Given the description of an element on the screen output the (x, y) to click on. 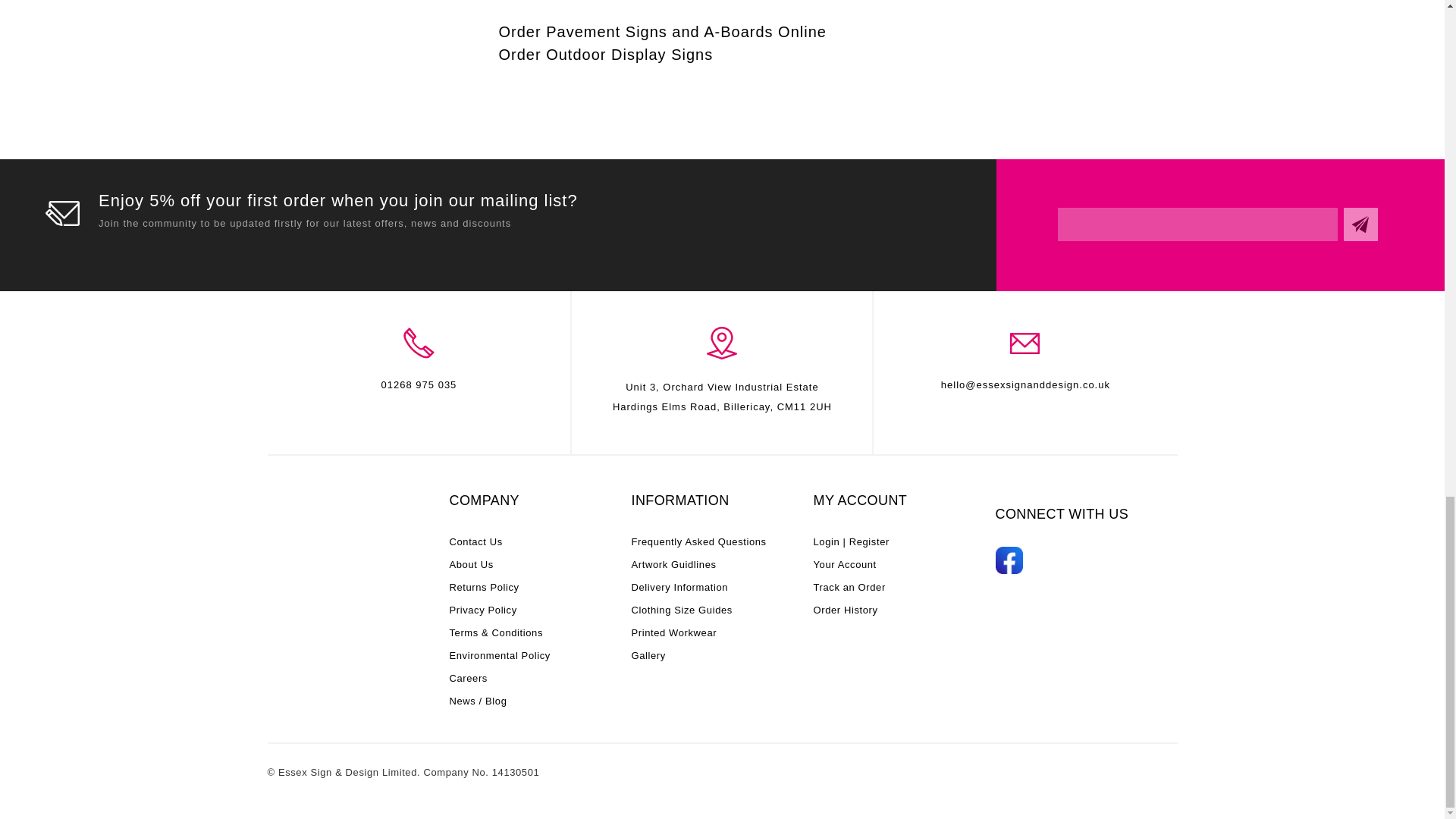
Subscribe (1360, 224)
